Given the description of an element on the screen output the (x, y) to click on. 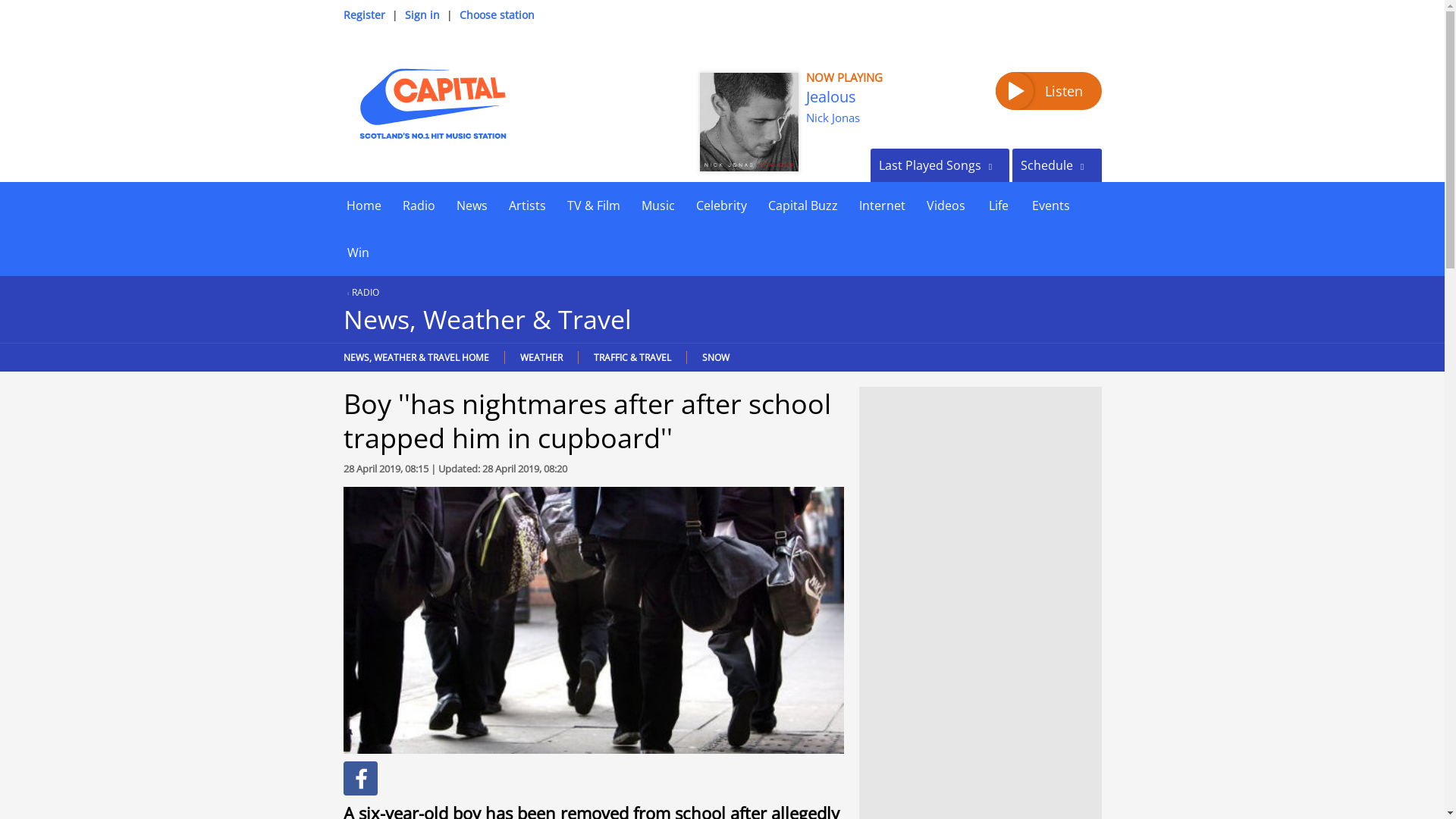
WEATHER (539, 357)
Radio (418, 205)
Events (1050, 205)
Home (362, 205)
SNOW (714, 357)
Music (657, 205)
Register (363, 14)
Celebrity (721, 205)
Listen (1047, 90)
Videos (945, 205)
